Given the description of an element on the screen output the (x, y) to click on. 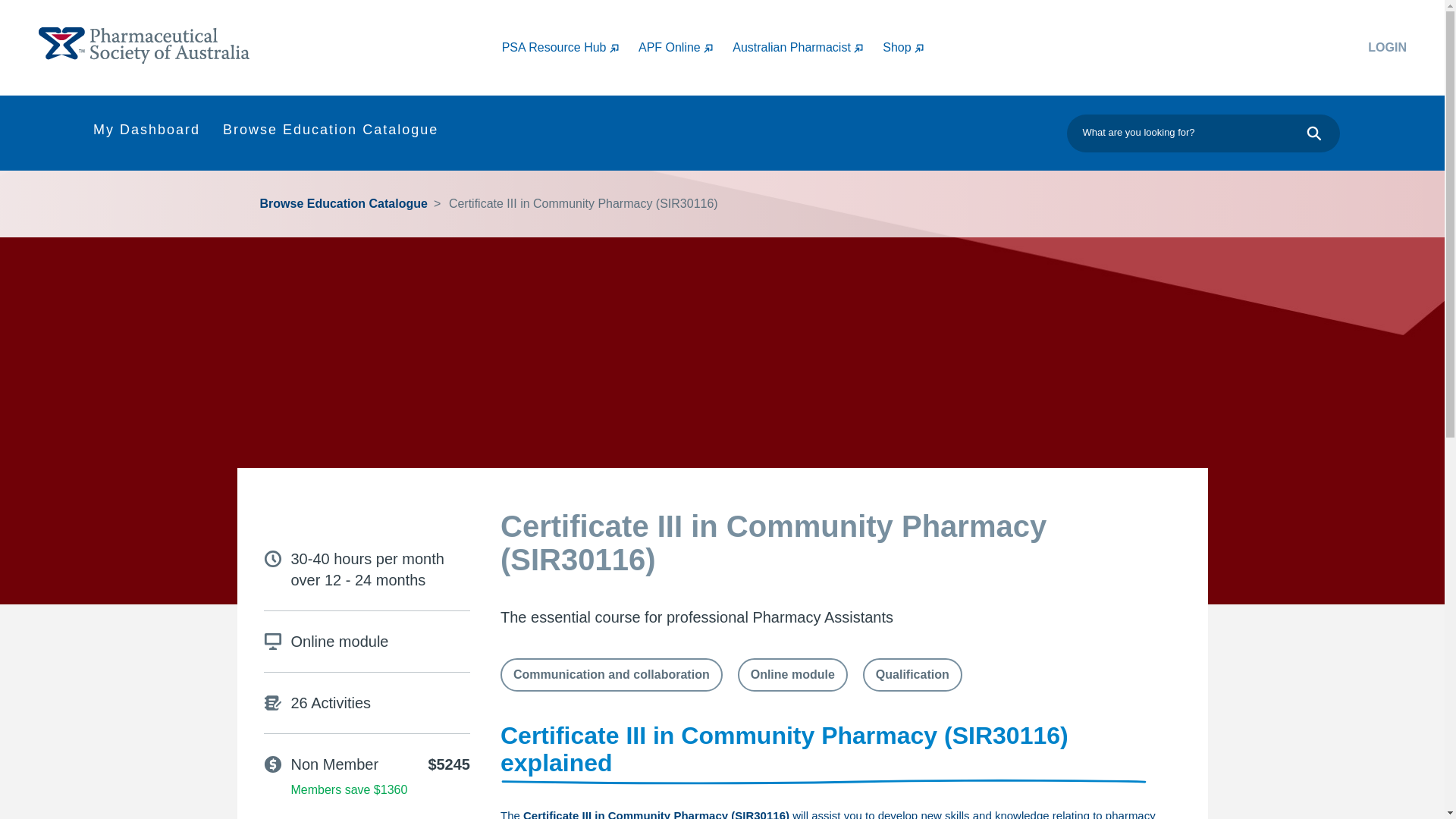
Australian Pharmacist Element type: text (807, 46)
PSA Resource Hub Element type: text (570, 46)
SEARCH Element type: text (1316, 132)
LOGIN Element type: text (1301, 47)
Certificate III in Community Pharmacy (SIR30116) Element type: text (578, 203)
Browse Education Catalogue Element type: text (332, 132)
Browse Education Catalogue Element type: text (346, 203)
PSA Community Element type: hover (143, 44)
Online module Element type: text (792, 674)
My Dashboard Element type: text (148, 132)
Communication and collaboration Element type: text (611, 674)
APF Online Element type: text (685, 46)
Qualification Element type: text (912, 674)
Shop Element type: text (912, 46)
